Given the description of an element on the screen output the (x, y) to click on. 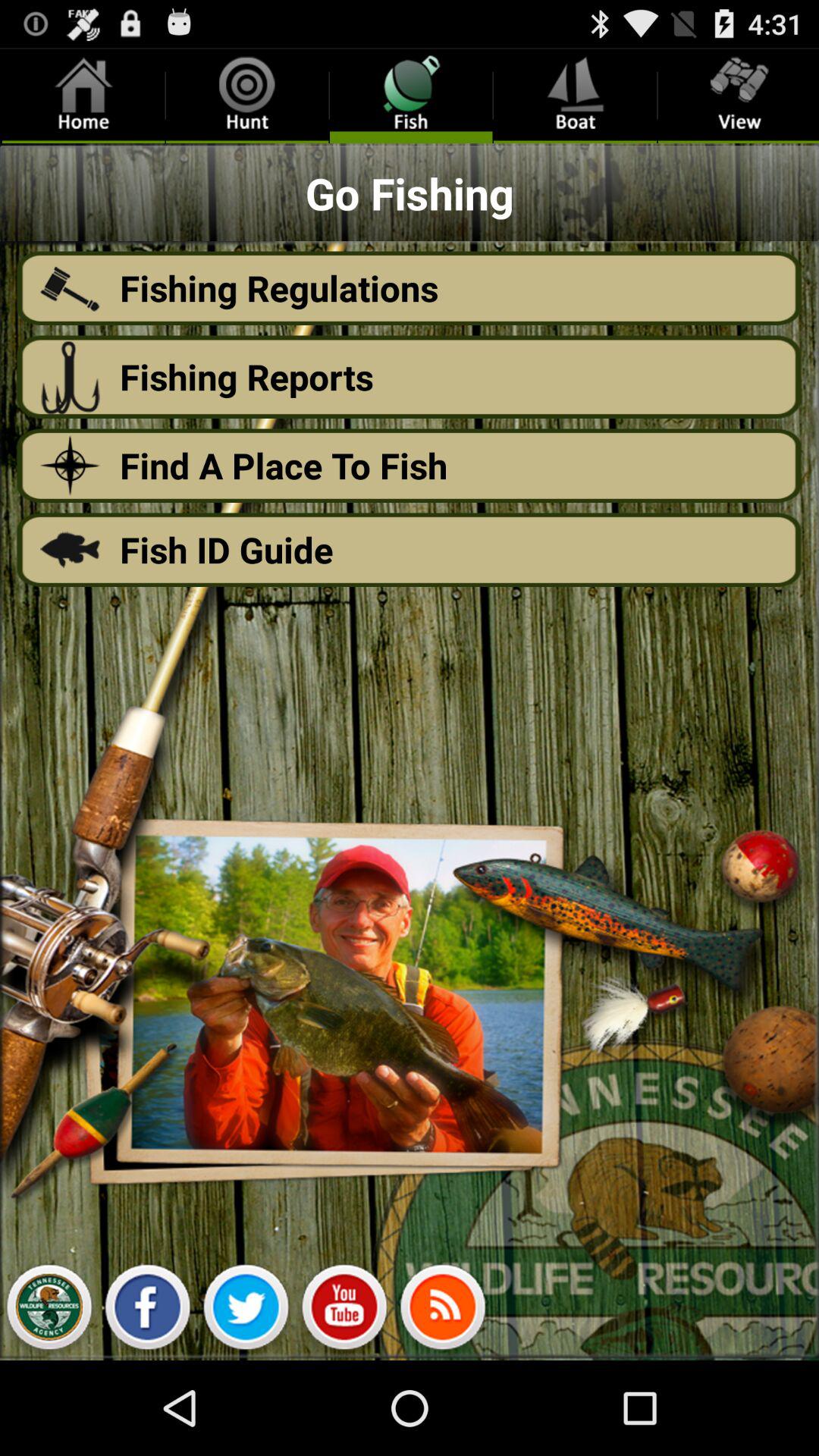
wifi (442, 1311)
